Given the description of an element on the screen output the (x, y) to click on. 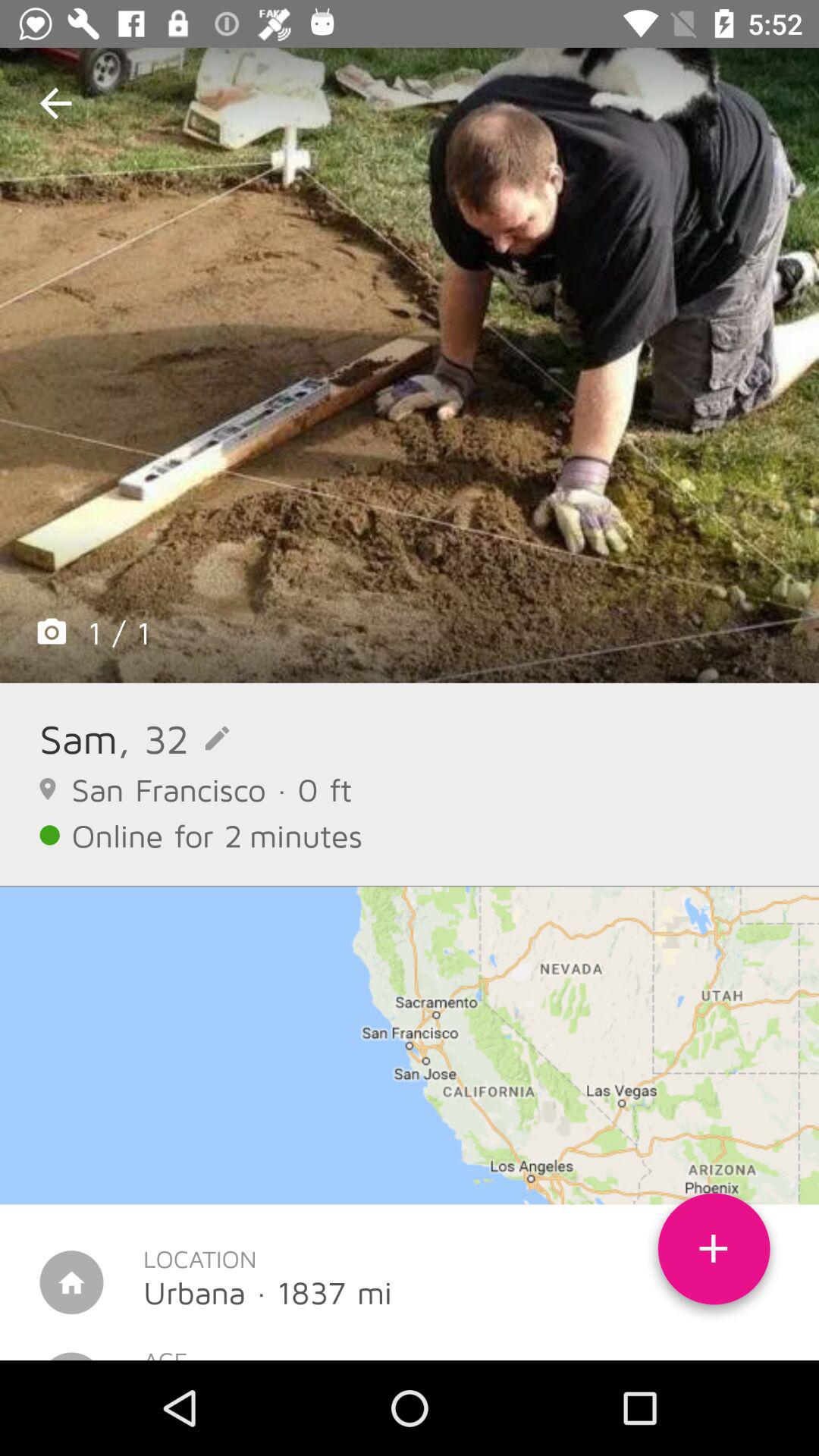
view photo (409, 365)
